Given the description of an element on the screen output the (x, y) to click on. 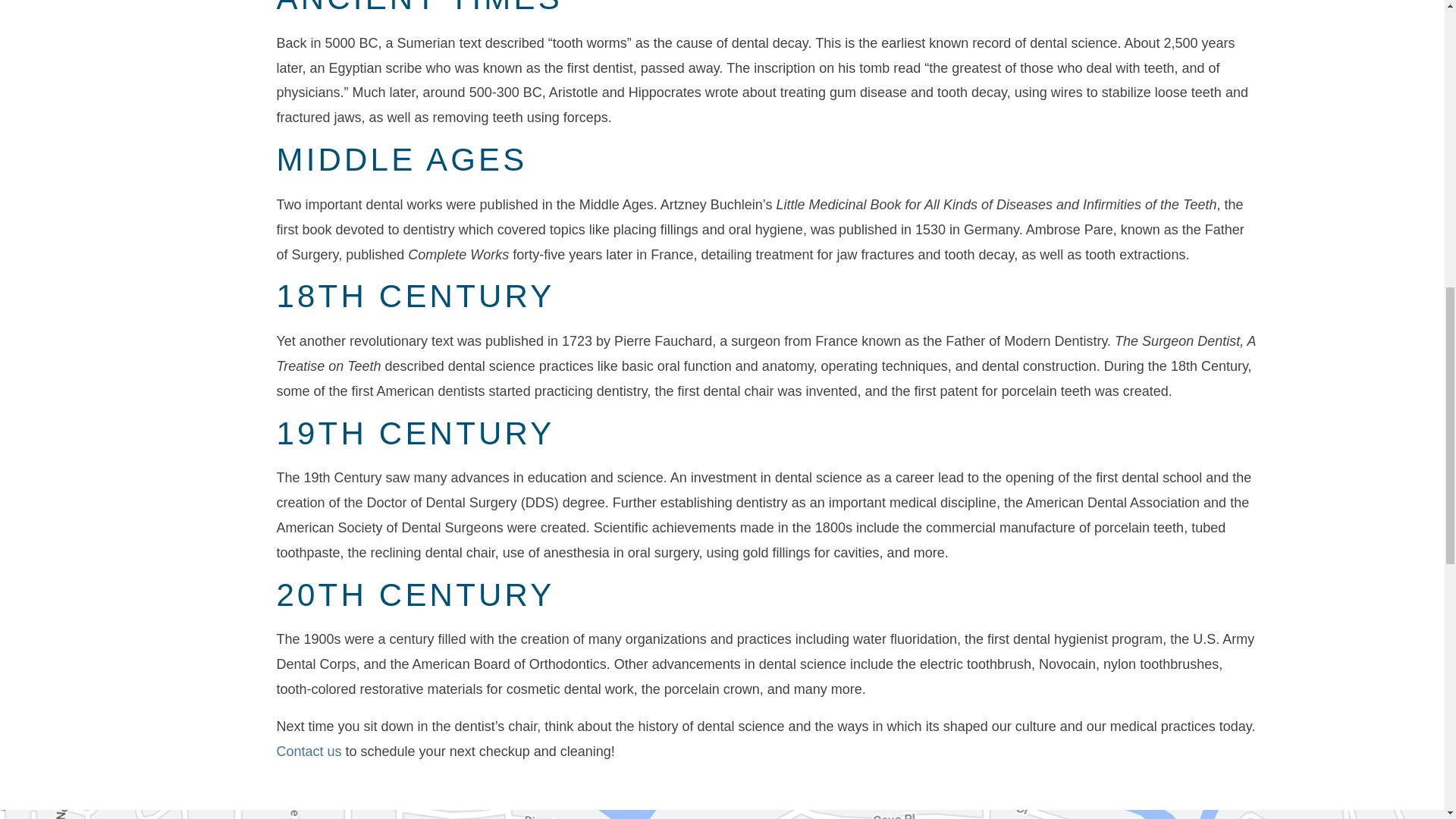
Contact us (308, 751)
